Given the description of an element on the screen output the (x, y) to click on. 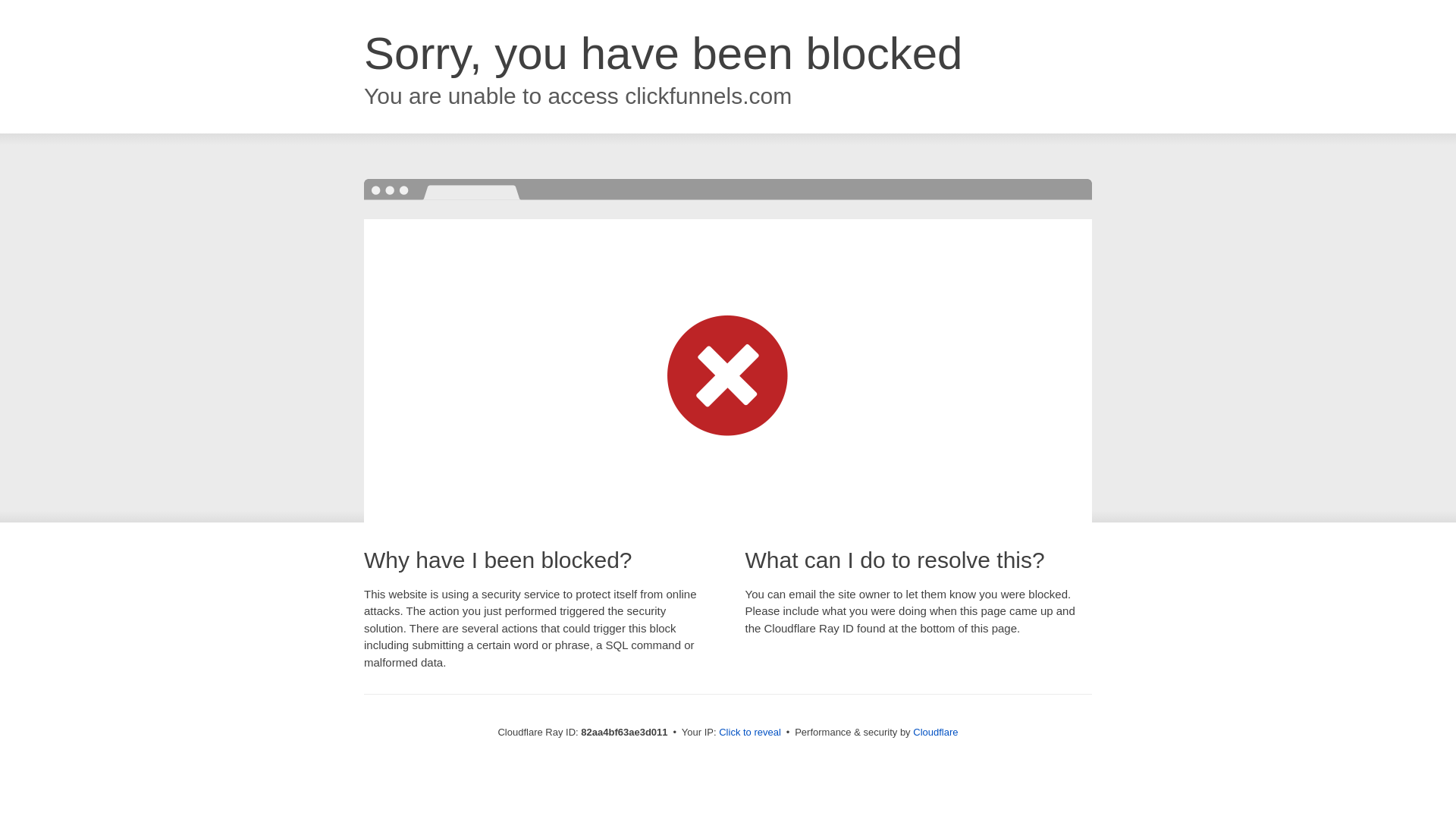
Click to reveal Element type: text (749, 732)
Cloudflare Element type: text (935, 731)
